Given the description of an element on the screen output the (x, y) to click on. 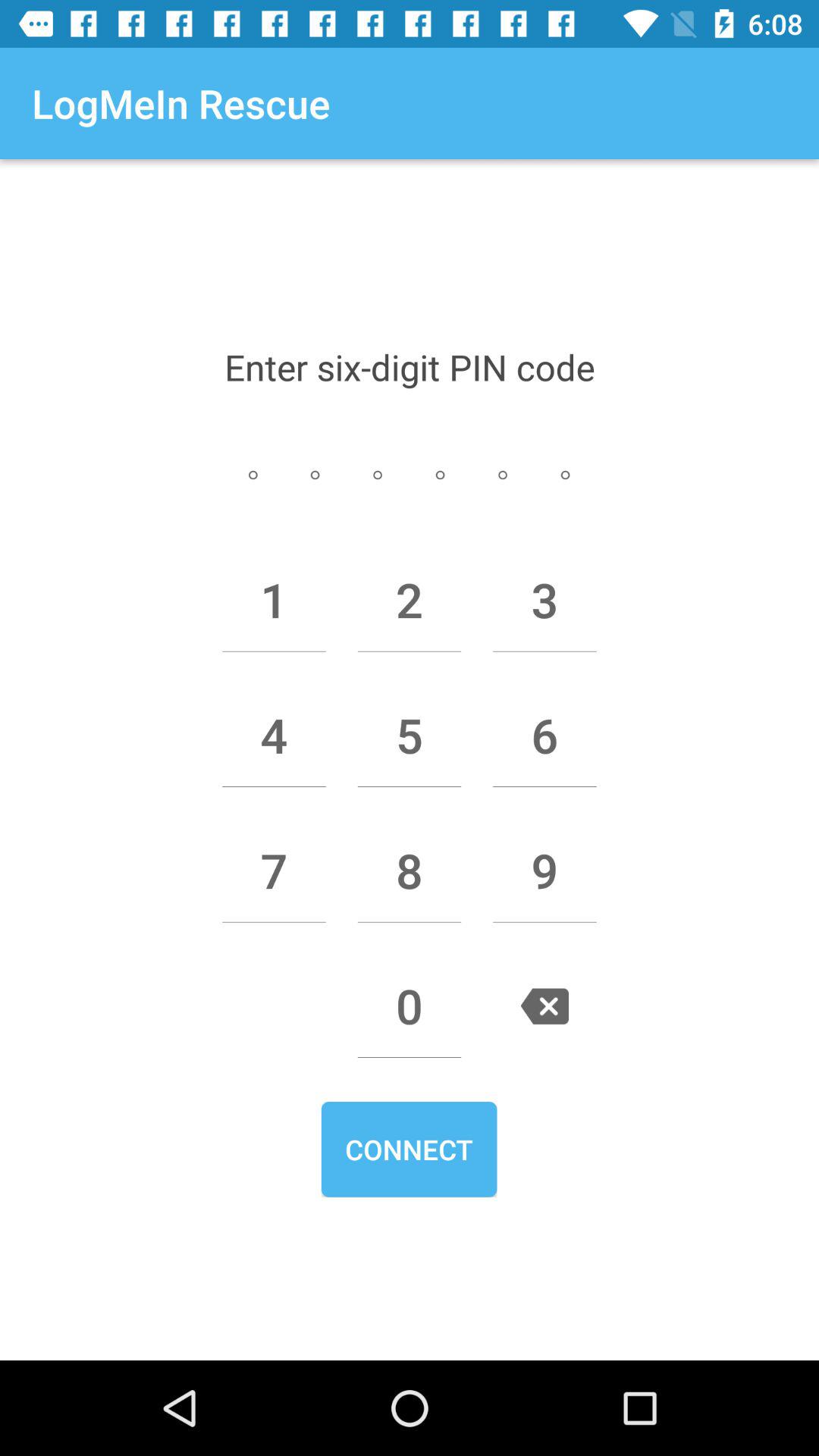
press item below 4 item (273, 870)
